Given the description of an element on the screen output the (x, y) to click on. 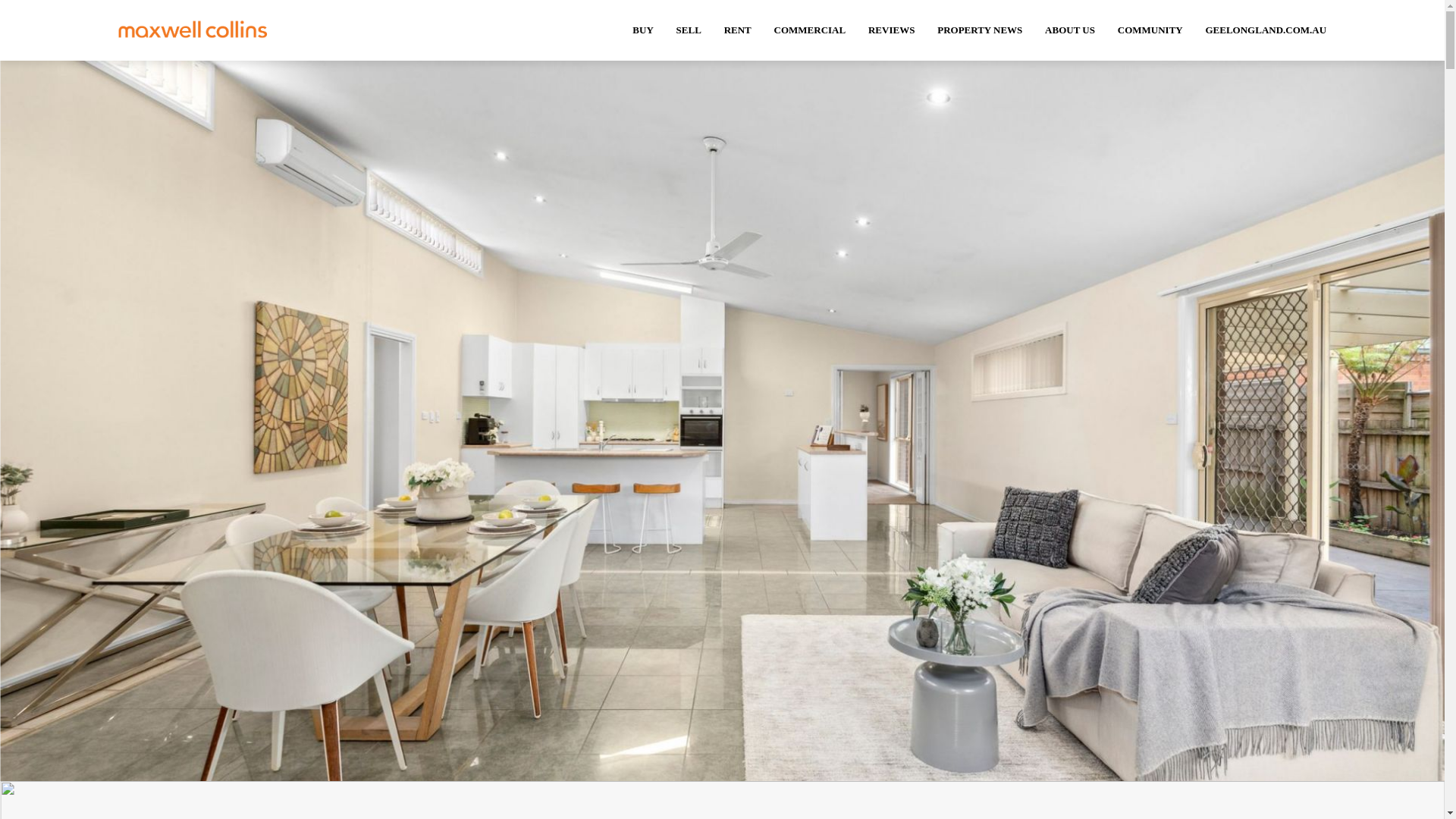
GEELONGLAND.COM.AU (1265, 30)
REVIEWS (891, 30)
PROPERTY NEWS (979, 30)
COMMUNITY (1150, 30)
COMMERCIAL (810, 30)
ABOUT US (1070, 30)
